Given the description of an element on the screen output the (x, y) to click on. 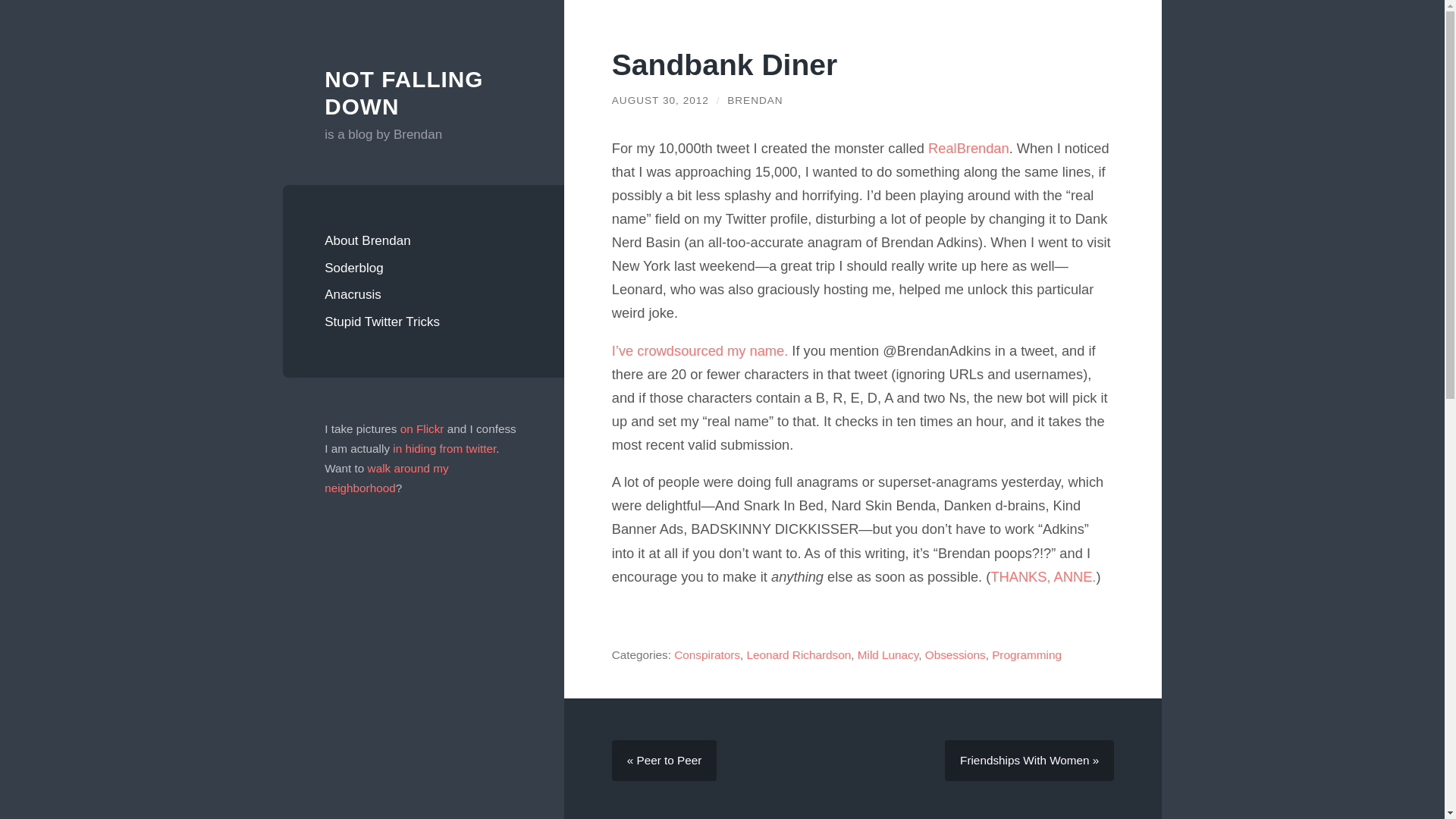
from twitter (467, 448)
Anacrusis (422, 294)
About Brendan (422, 240)
THANKS, ANNE. (1043, 576)
Mild Lunacy (887, 654)
RealBrendan (968, 148)
Stupid Twitter Tricks (422, 321)
NOT FALLING DOWN (403, 92)
Leonard Richardson (797, 654)
on Flickr (422, 428)
